Given the description of an element on the screen output the (x, y) to click on. 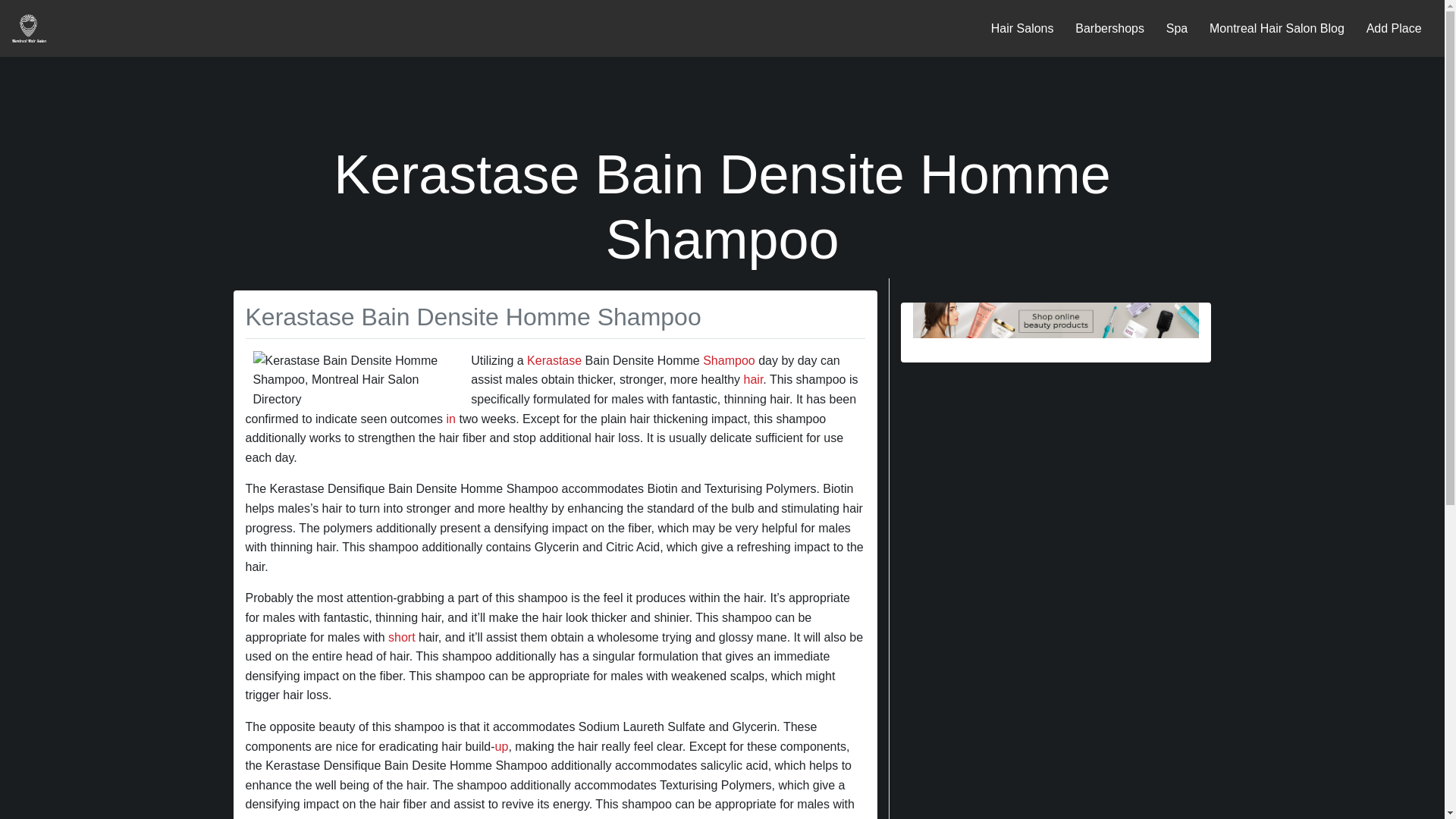
Add Place (1393, 28)
Shampoo (729, 359)
Kerastase (553, 359)
Montreal Hair Salon Blog (1276, 28)
short (401, 636)
up (501, 746)
thick (300, 818)
